Given the description of an element on the screen output the (x, y) to click on. 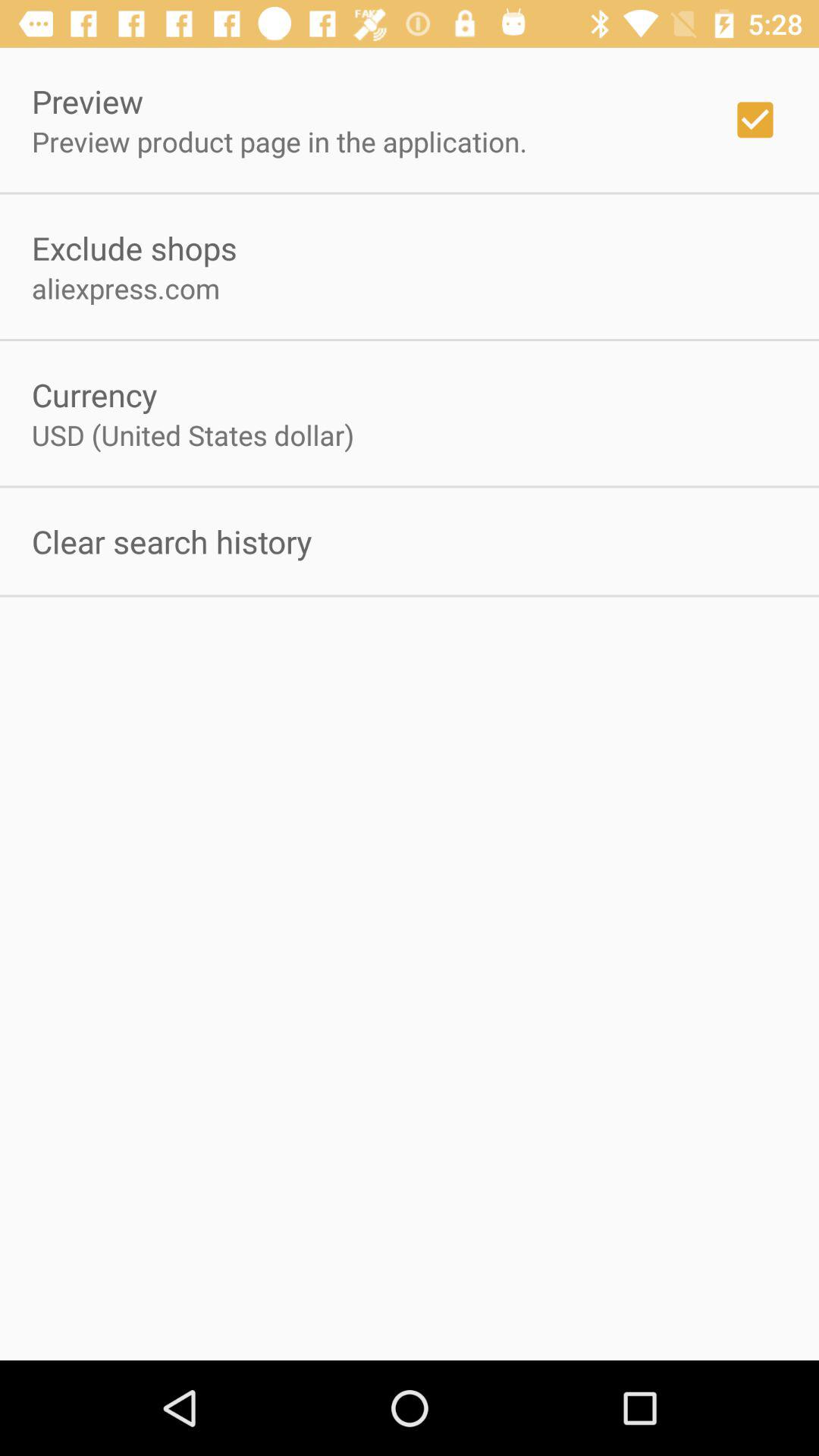
launch the app above the aliexpress.com icon (134, 247)
